Given the description of an element on the screen output the (x, y) to click on. 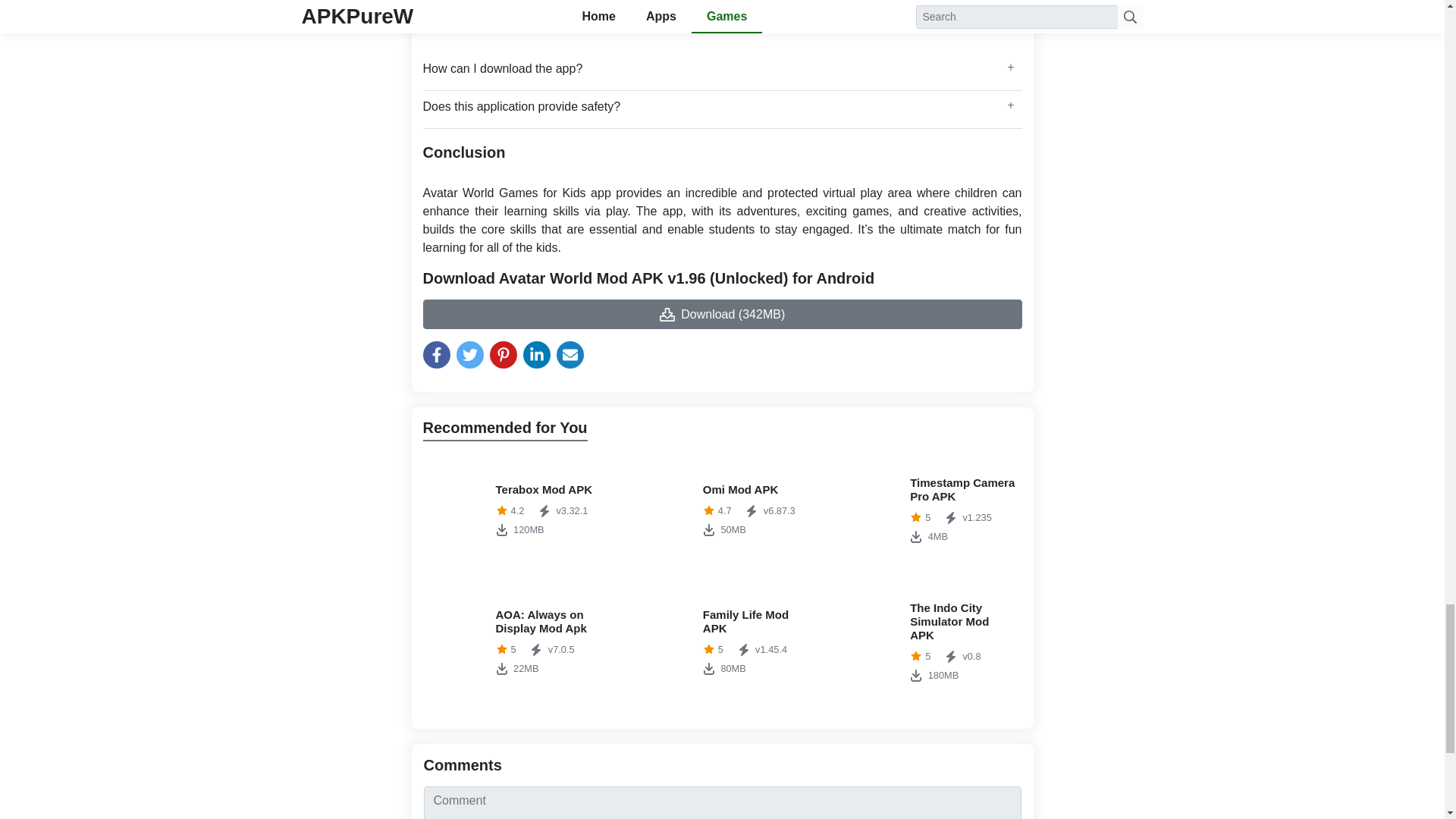
 AOA: Always on Display Mod Apk (929, 510)
 Omi Mod APK (515, 642)
 Timestamp Camera Pro APK (721, 510)
 Family Life Mod APK (721, 510)
 Terabox Mod APK (515, 510)
